Given the description of an element on the screen output the (x, y) to click on. 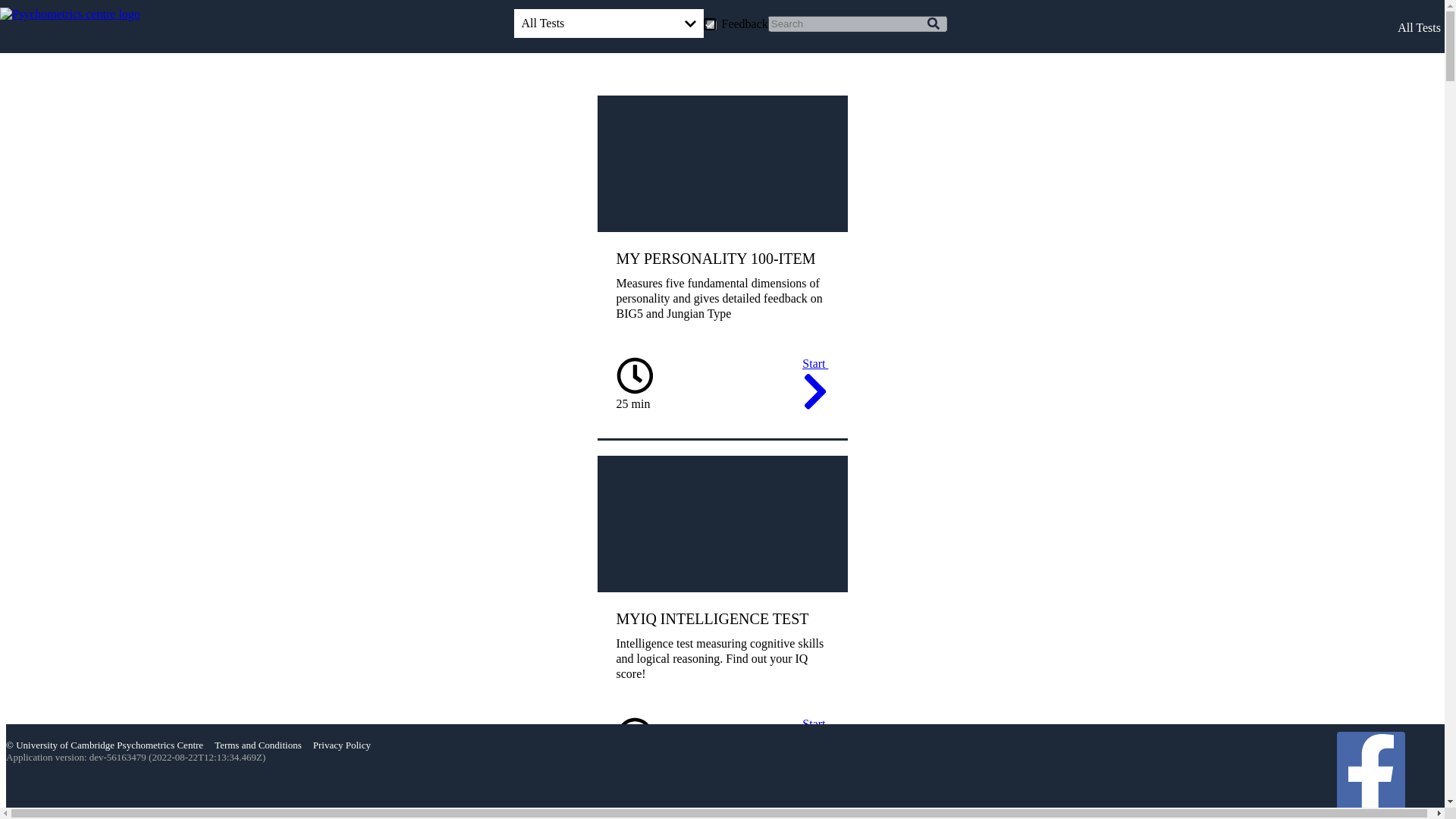
University of Cambridge Psychometrics Centre (109, 745)
on (711, 25)
Terms and Conditions (257, 745)
Share (1370, 775)
Start  (815, 386)
Start  (815, 746)
Privacy Policy (342, 745)
